Given the description of an element on the screen output the (x, y) to click on. 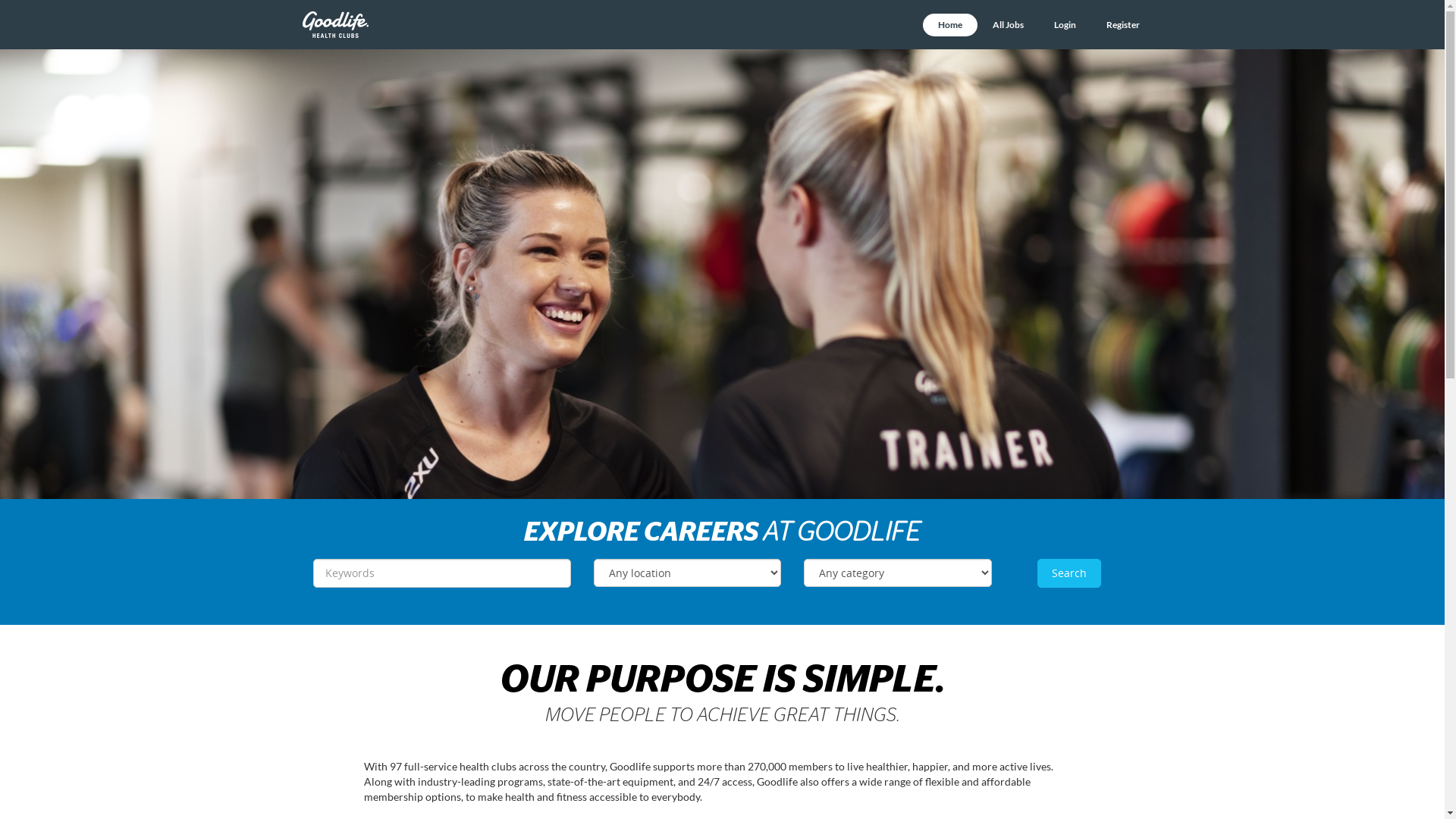
Register Element type: text (1122, 24)
Home Element type: text (949, 24)
Search Element type: text (1069, 572)
Login Element type: text (1064, 24)
Submit Element type: text (24, 9)
All Jobs Element type: text (1007, 24)
